Given the description of an element on the screen output the (x, y) to click on. 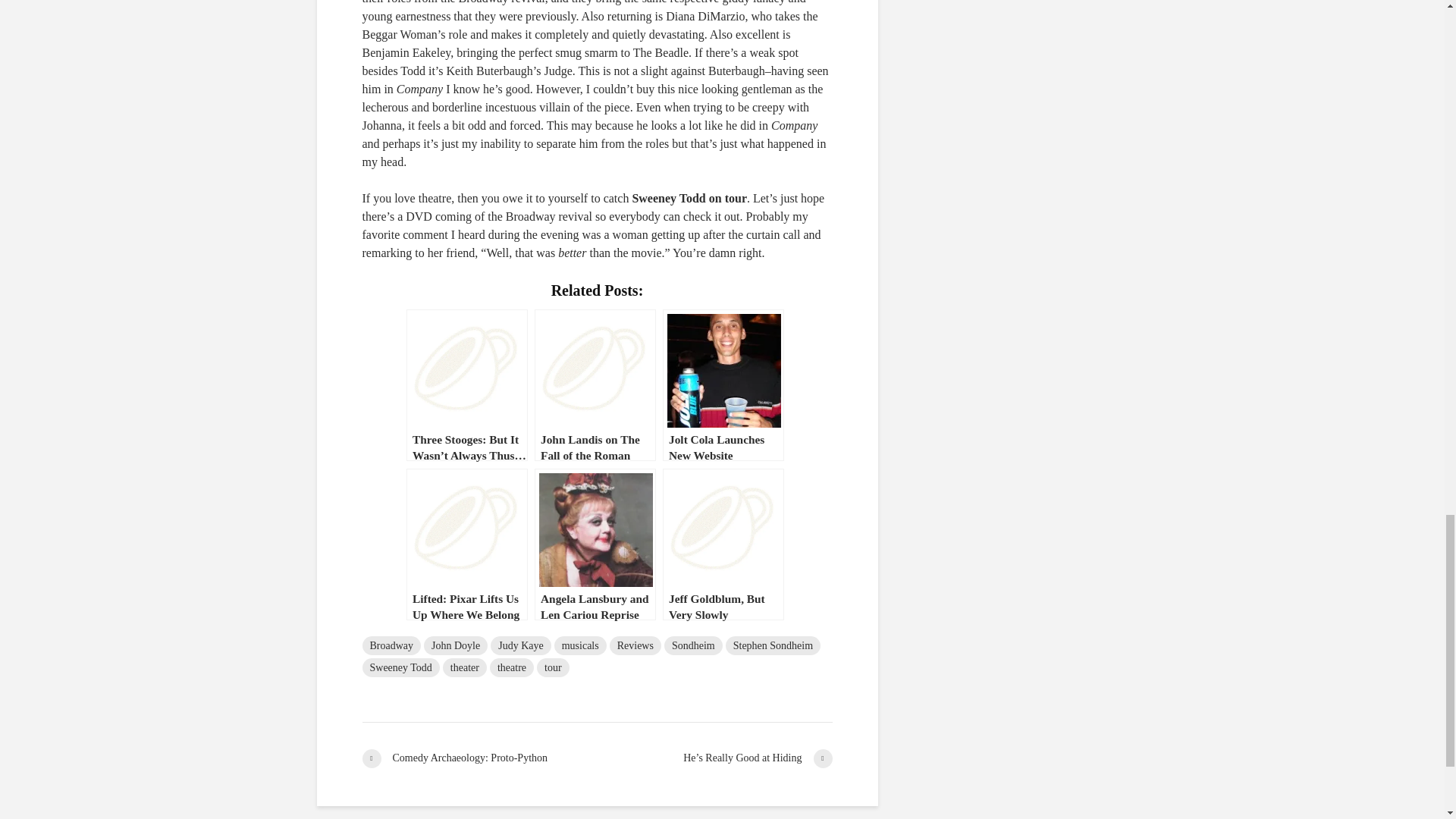
Broadway (392, 645)
Stephen Sondheim (773, 645)
Reviews (635, 645)
musicals (580, 645)
Sondheim (692, 645)
John Doyle (455, 645)
Judy Kaye (520, 645)
